Given the description of an element on the screen output the (x, y) to click on. 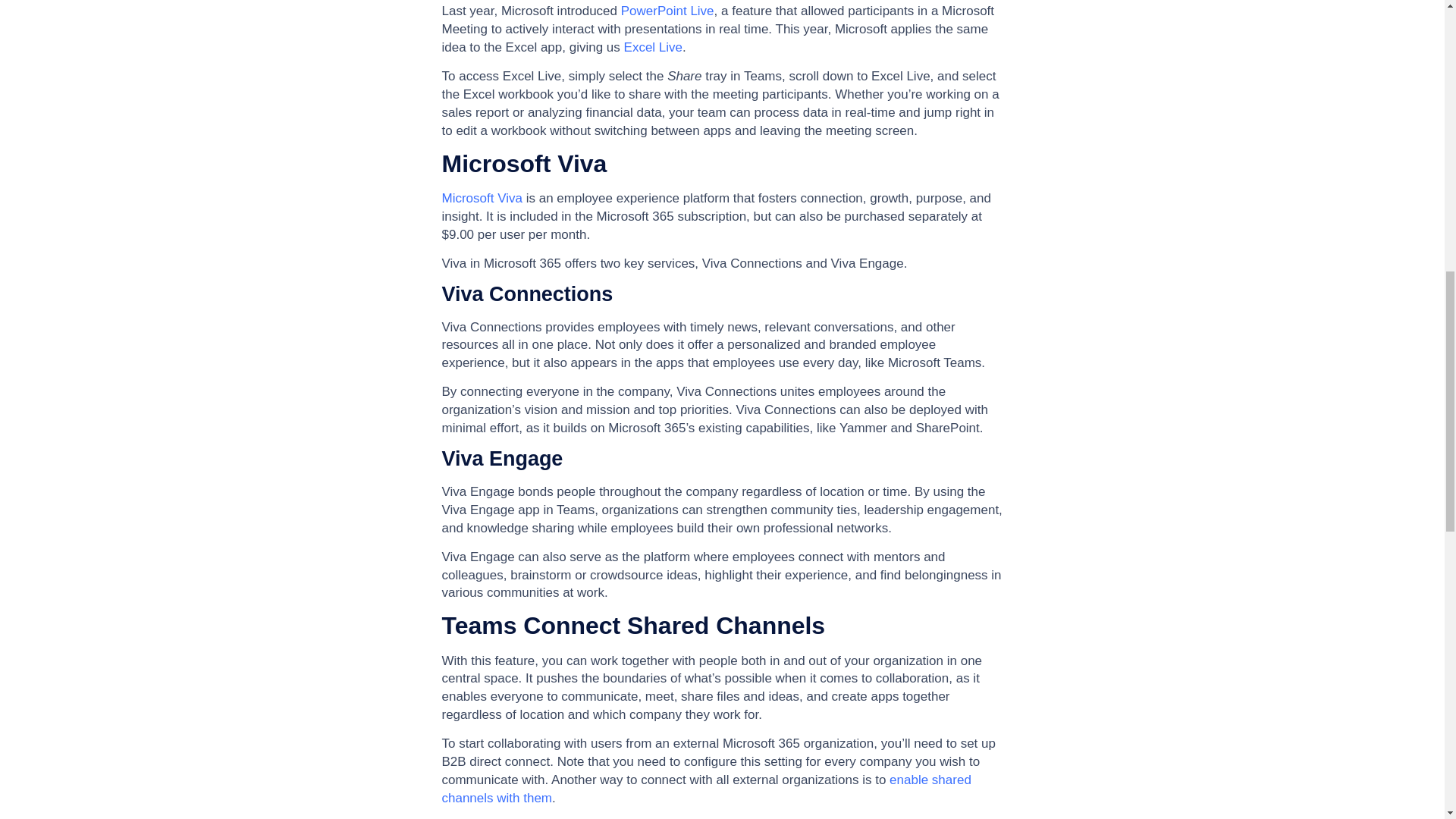
Excel Live (653, 47)
Microsoft Viva (481, 197)
enable shared channels with them (706, 789)
PowerPoint Live (667, 11)
